Given the description of an element on the screen output the (x, y) to click on. 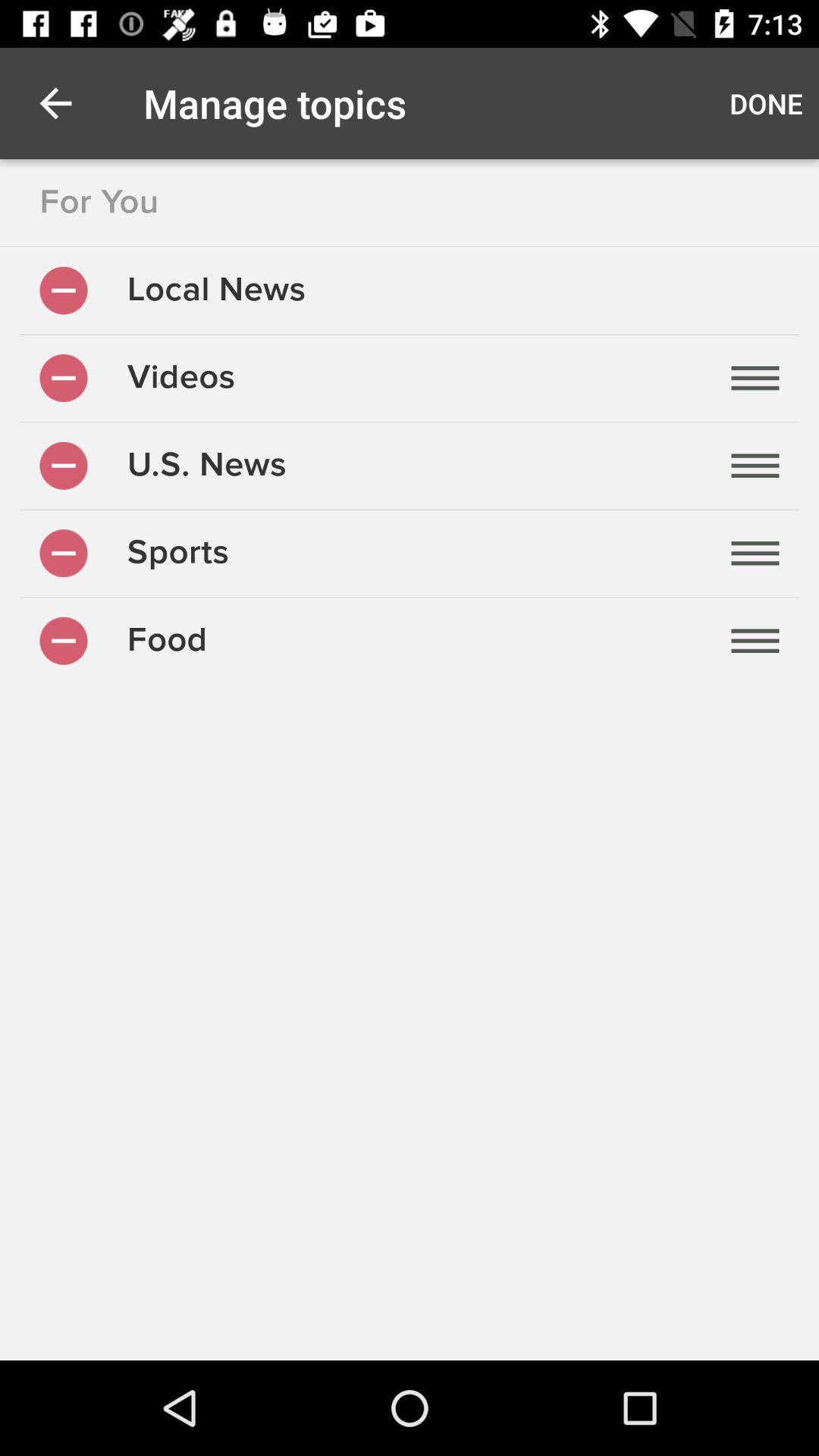
toggle on/off for the food topic (63, 640)
